Given the description of an element on the screen output the (x, y) to click on. 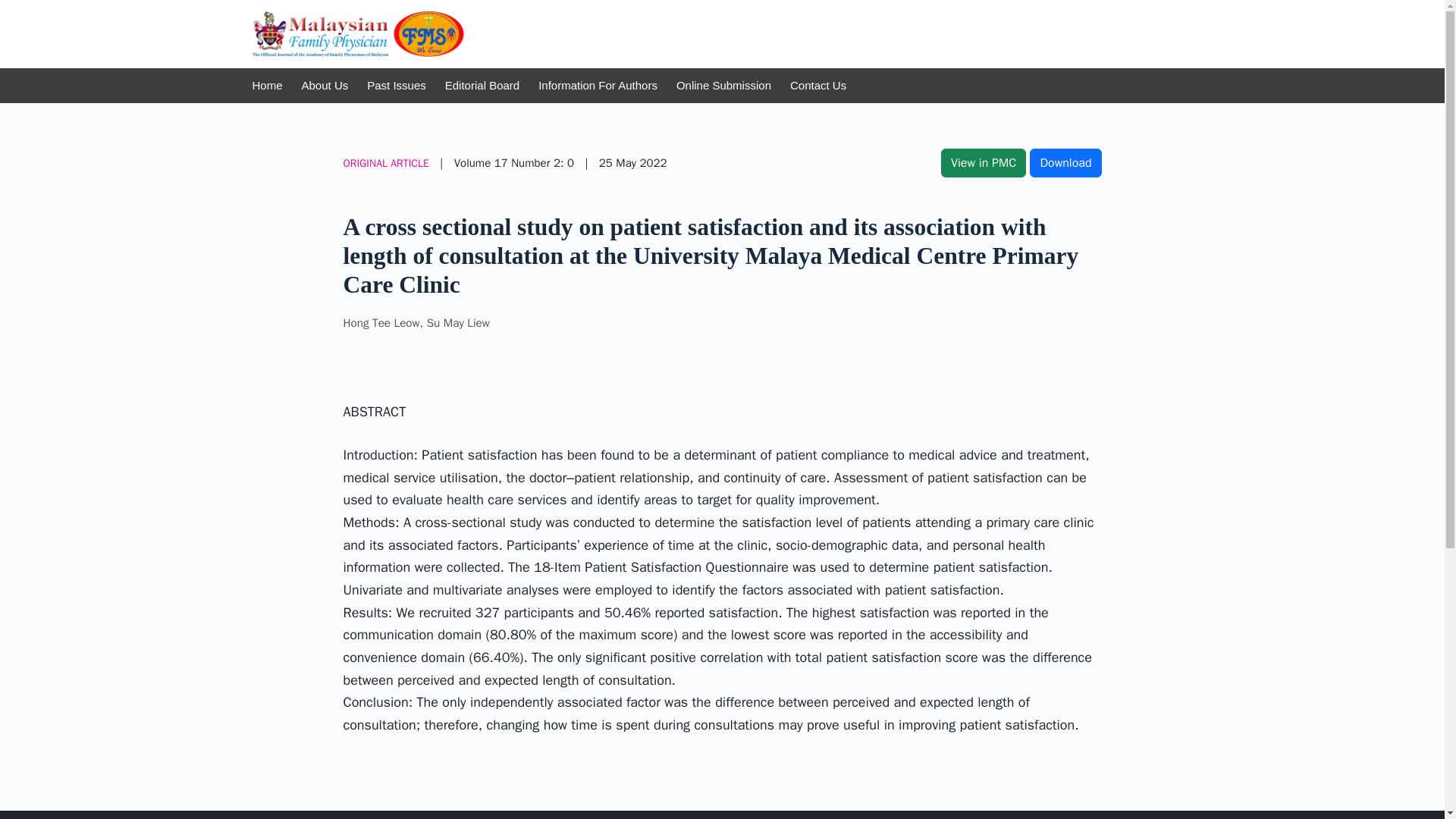
Volume 17 Number 2 (507, 162)
About Us (325, 85)
View in PMC (983, 162)
Download (1064, 162)
Information For Authors (598, 85)
Skip to content (15, 7)
Past Issues (396, 85)
Online Submission (724, 85)
Contact Us (817, 85)
Editorial Board (482, 85)
